Given the description of an element on the screen output the (x, y) to click on. 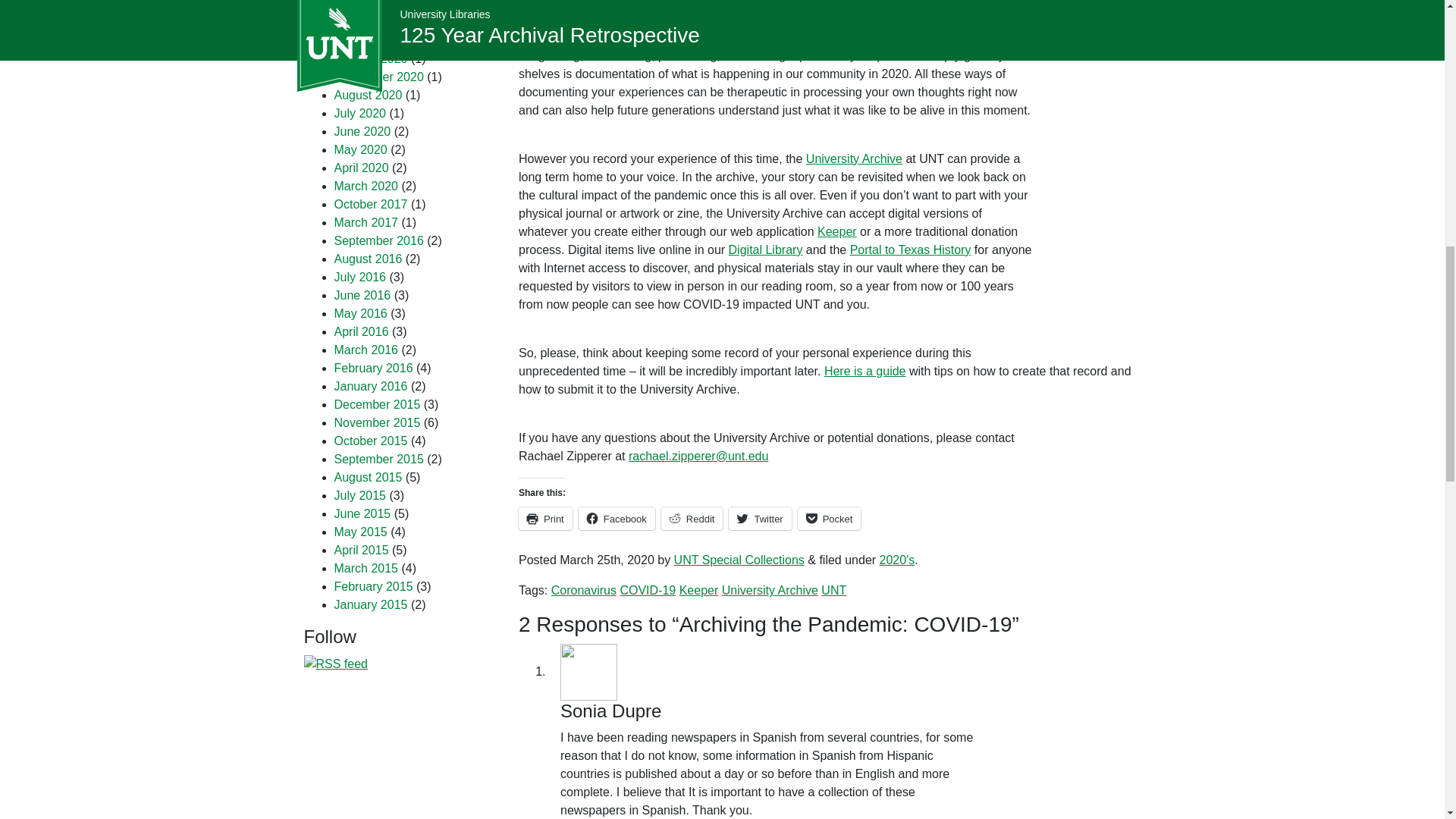
University Archive (854, 158)
Pocket (829, 517)
2020's (897, 559)
Click to share on Pocket (829, 517)
Twitter (759, 517)
Click to print (545, 517)
UNT (833, 590)
Facebook (616, 517)
Keeper (699, 590)
Click to share on Reddit (692, 517)
University Archive (770, 590)
COVID-19 (647, 590)
UNT Special Collections (739, 559)
Here is a guide (864, 370)
Click to share on Facebook (616, 517)
